Given the description of an element on the screen output the (x, y) to click on. 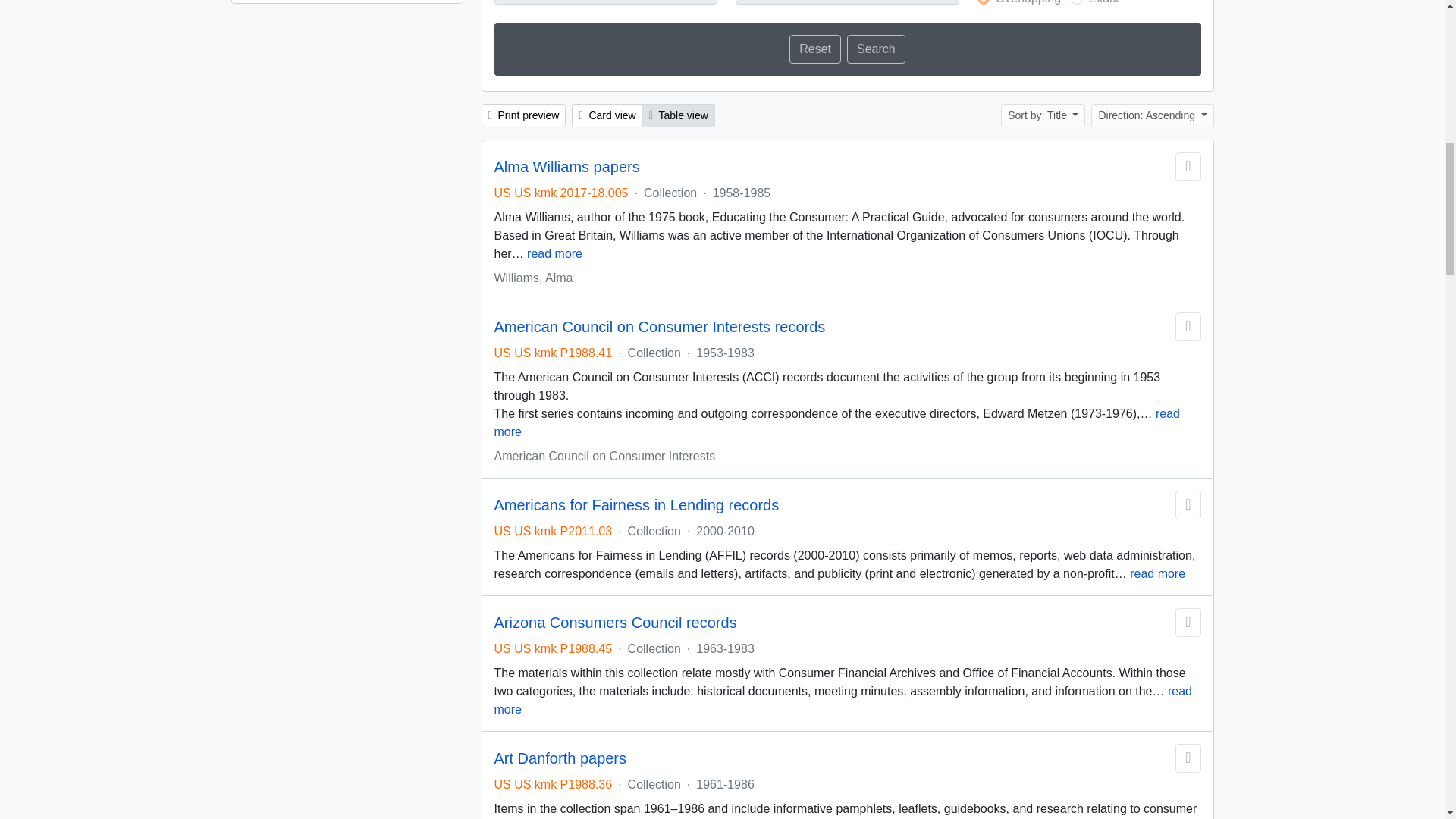
Reset (815, 49)
inclusive (983, 2)
Search (876, 49)
exact (1076, 2)
